Given the description of an element on the screen output the (x, y) to click on. 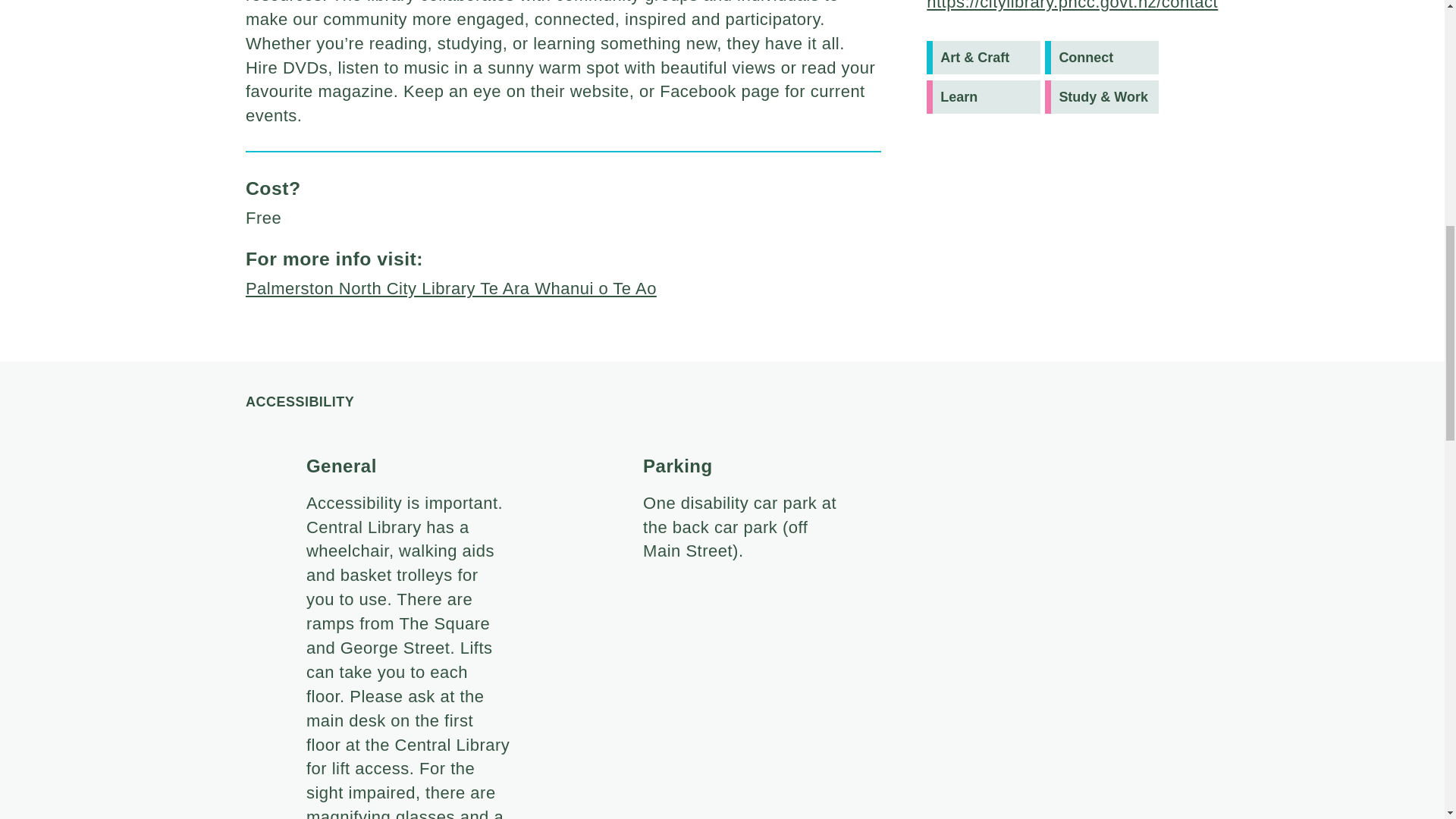
Learn (983, 96)
Palmerston North City Library Te Ara Whanui o Te Ao (451, 288)
Connect (1101, 57)
